Given the description of an element on the screen output the (x, y) to click on. 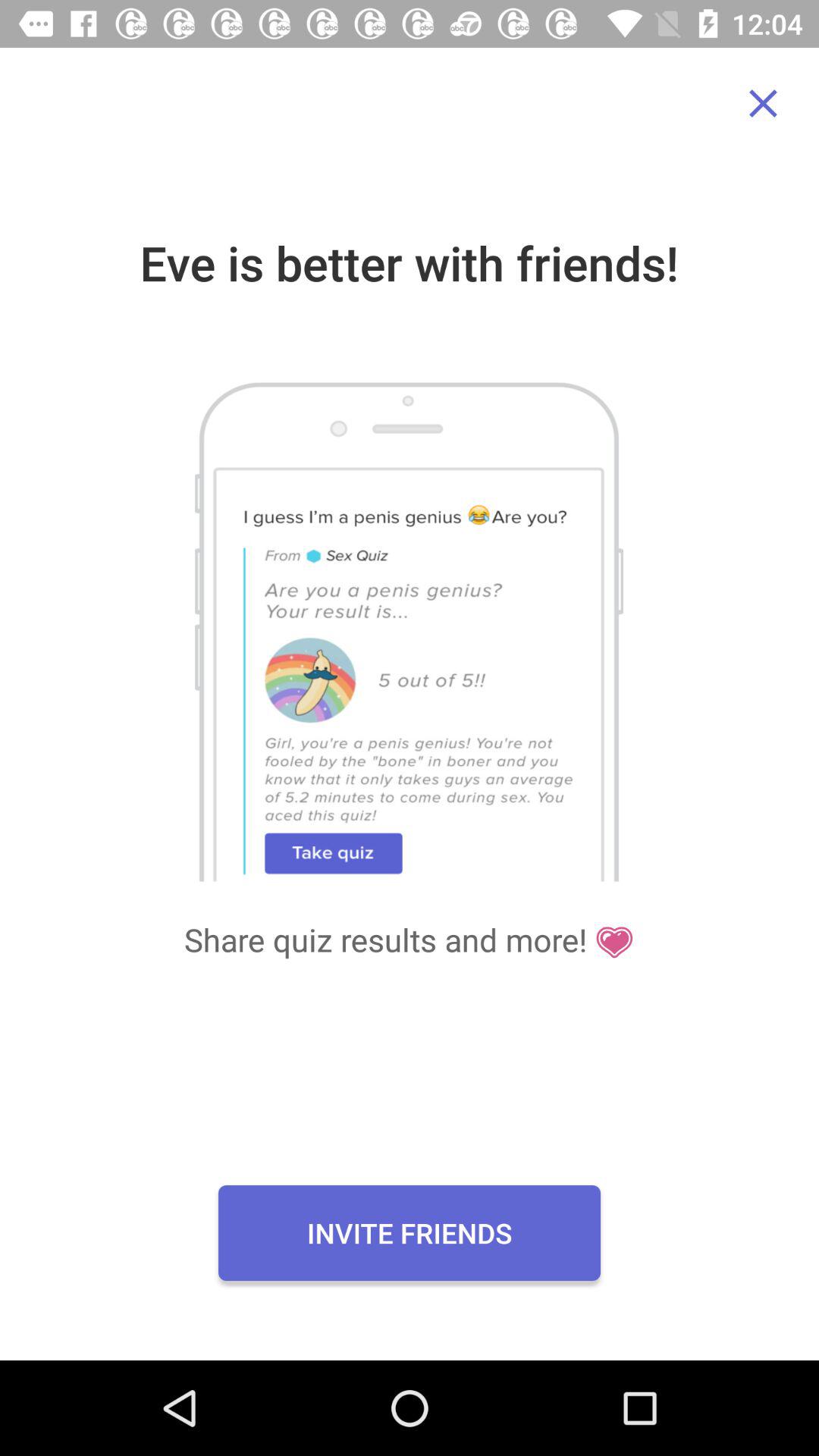
choose icon at the top right corner (763, 103)
